Given the description of an element on the screen output the (x, y) to click on. 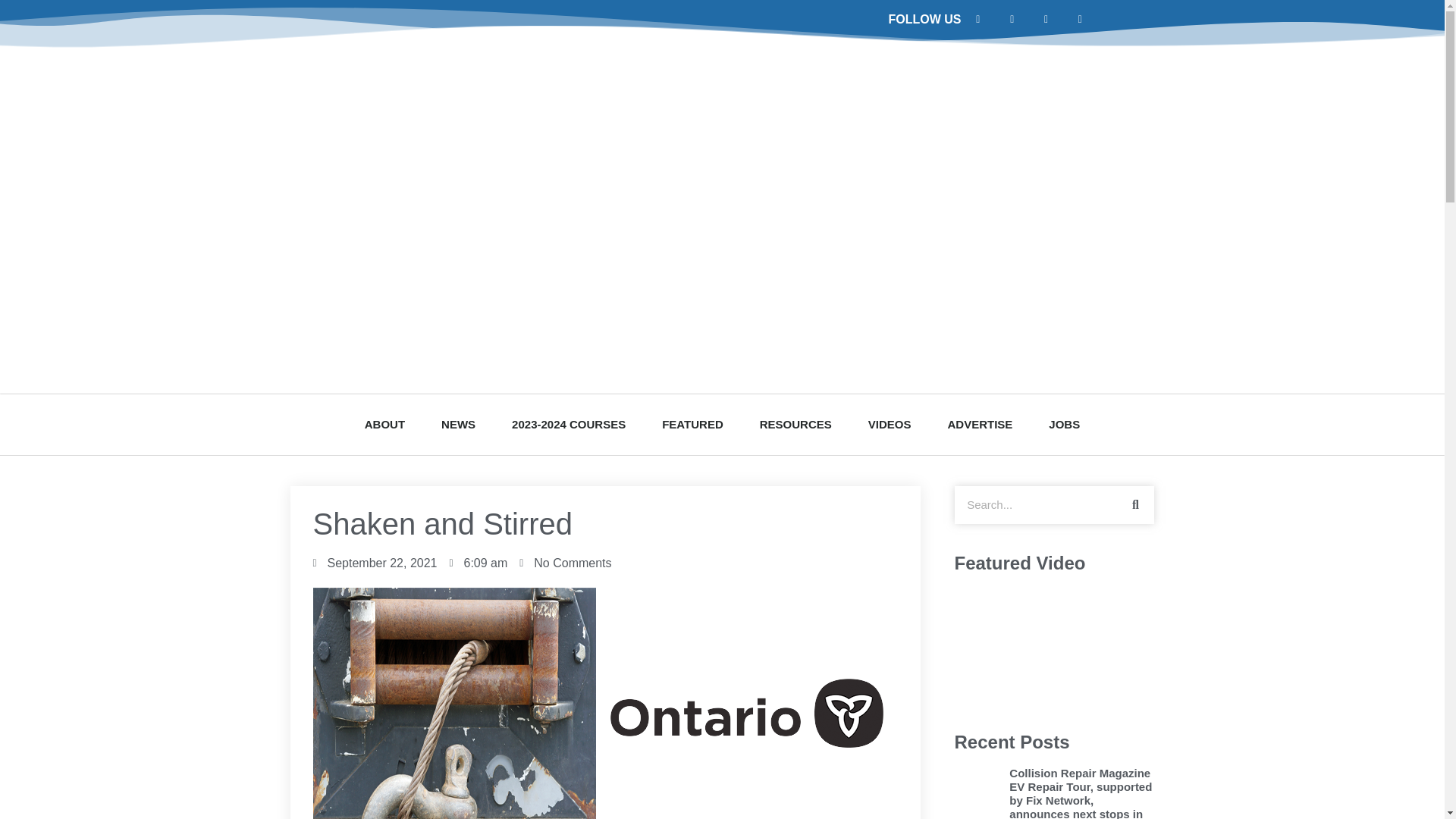
JOBS (1063, 424)
FEATURED (692, 424)
RESOURCES (795, 424)
2023-2024 COURSES (568, 424)
ADVERTISE (979, 424)
ABOUT (384, 424)
VIDEOS (890, 424)
NEWS (458, 424)
